Given the description of an element on the screen output the (x, y) to click on. 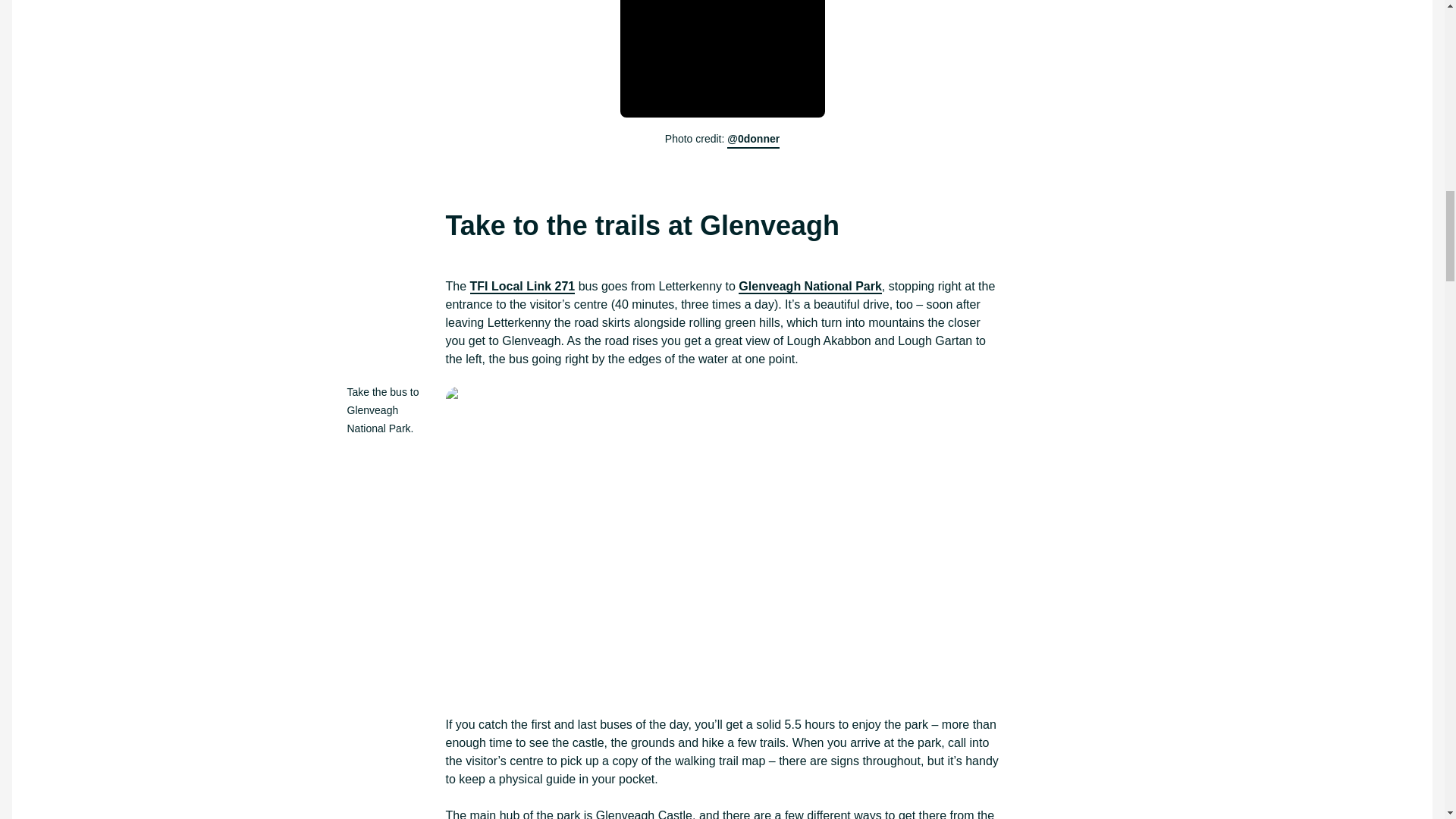
Glenveagh National Park (810, 286)
Go car-free to Letterkenny (722, 58)
TFI Local Link 271 (522, 286)
